Given the description of an element on the screen output the (x, y) to click on. 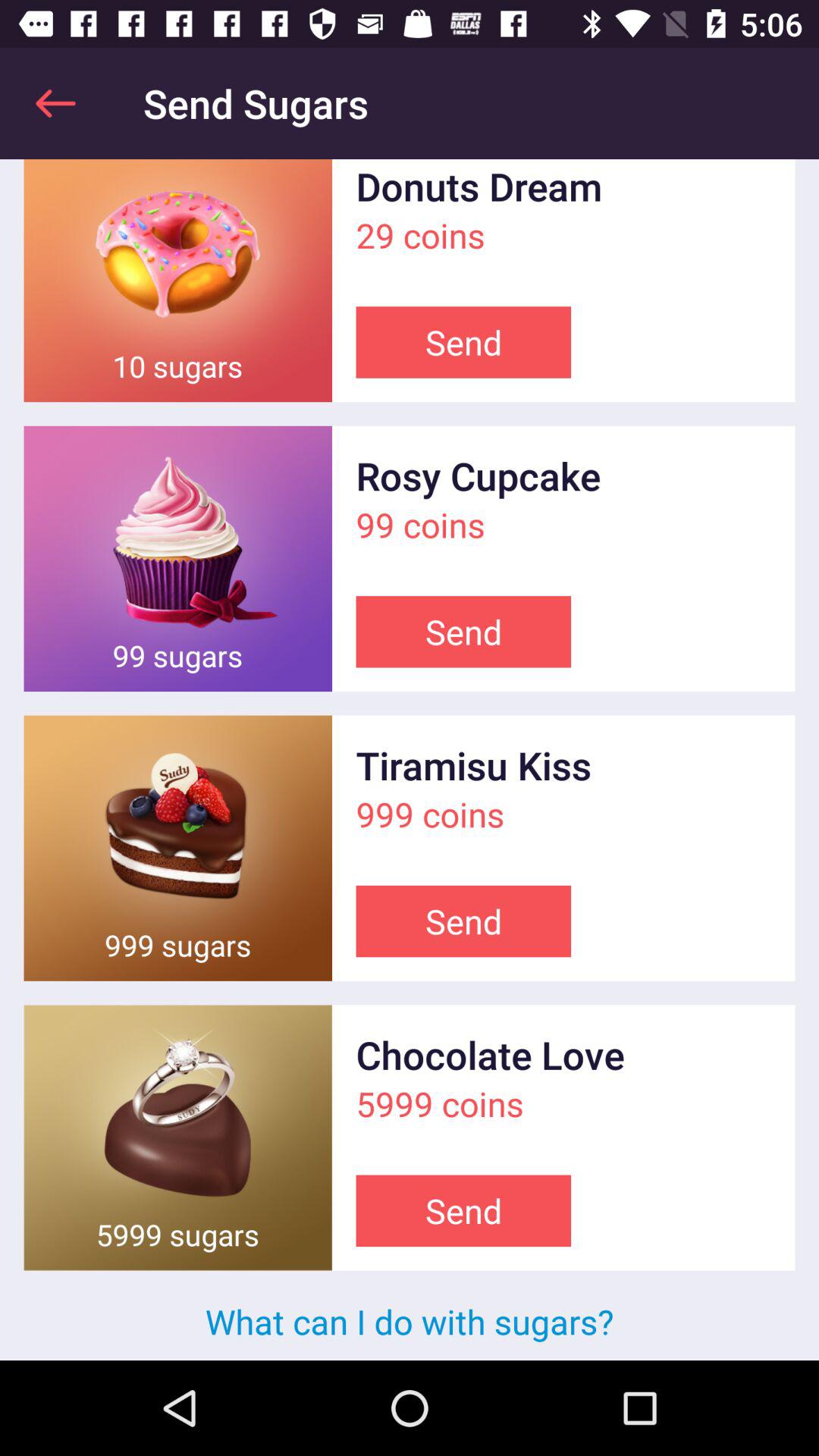
send sugars (177, 1137)
